Given the description of an element on the screen output the (x, y) to click on. 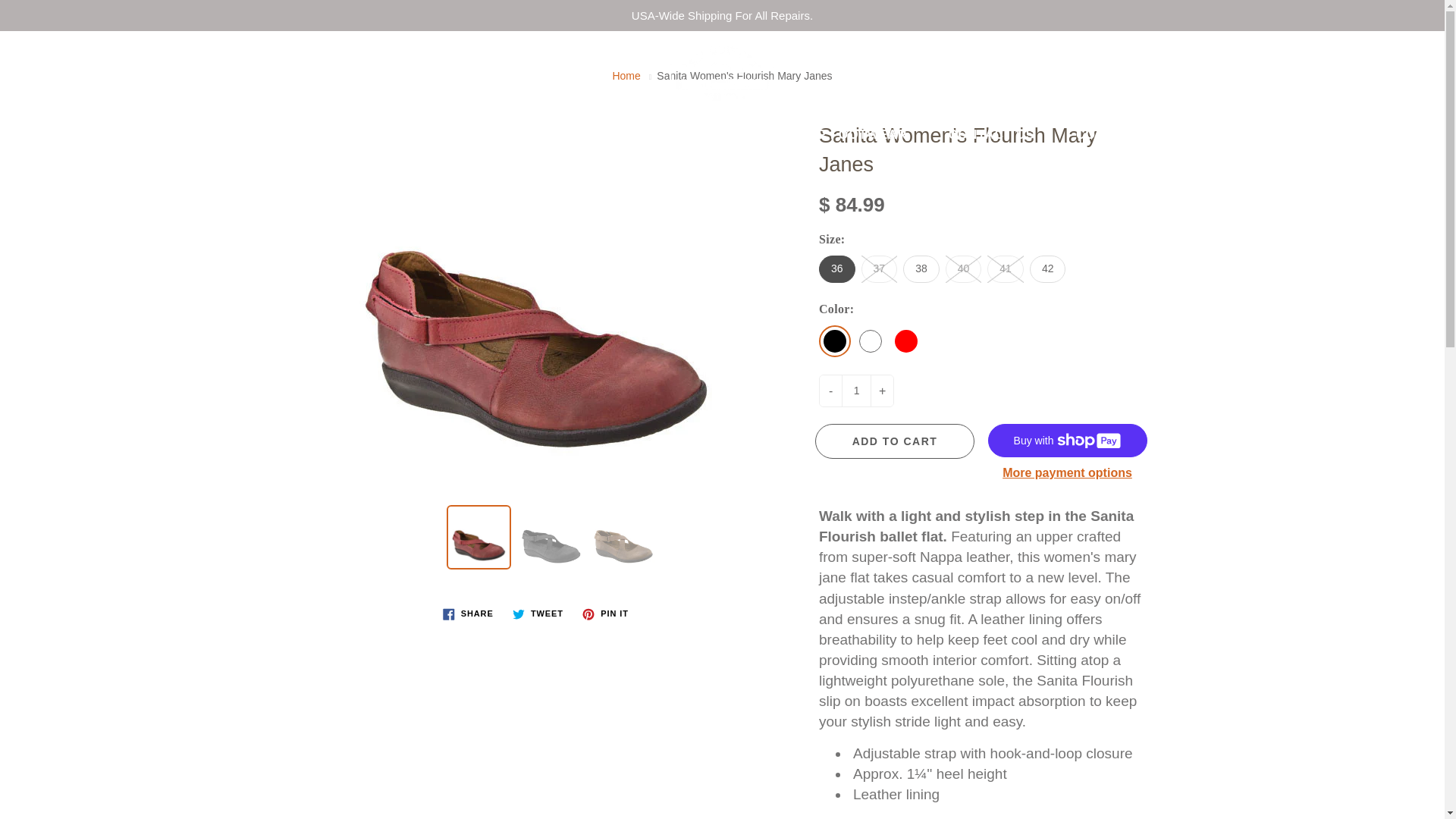
HOME (278, 134)
Share on Facebook (467, 613)
You have 0 items in your cart (1417, 56)
Search (28, 56)
Sanita Women's Flourish Mary Janes (550, 537)
Sanita Women's Flourish Mary Janes (478, 536)
Tweet on Twitter (537, 613)
Pin on Pinterest (604, 613)
My account (1379, 56)
Home (625, 75)
REPAIR (370, 134)
Sanita Women's Flourish Mary Janes (623, 537)
1 (855, 390)
